Given the description of an element on the screen output the (x, y) to click on. 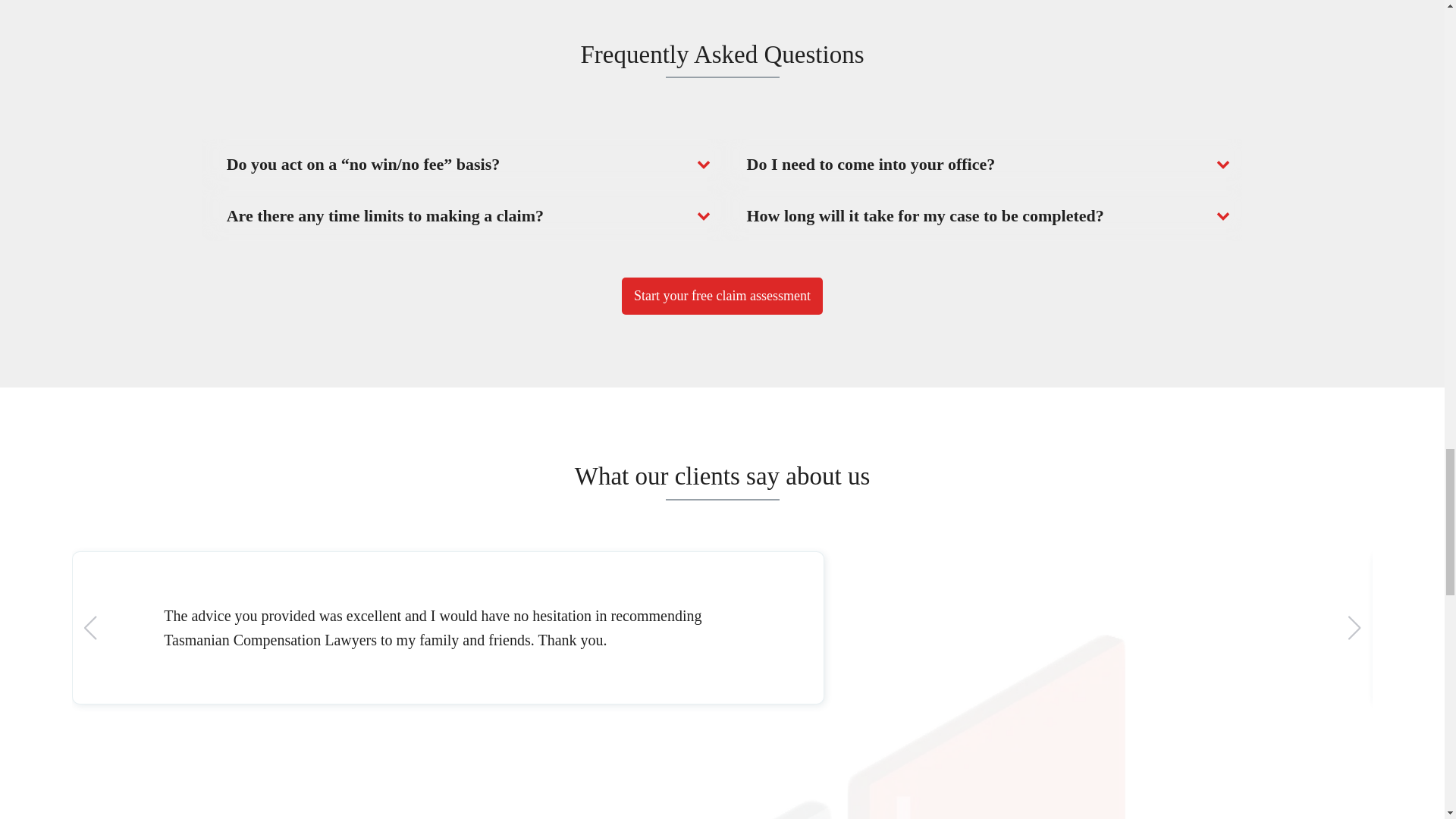
Start your free claim assessment (721, 295)
